Given the description of an element on the screen output the (x, y) to click on. 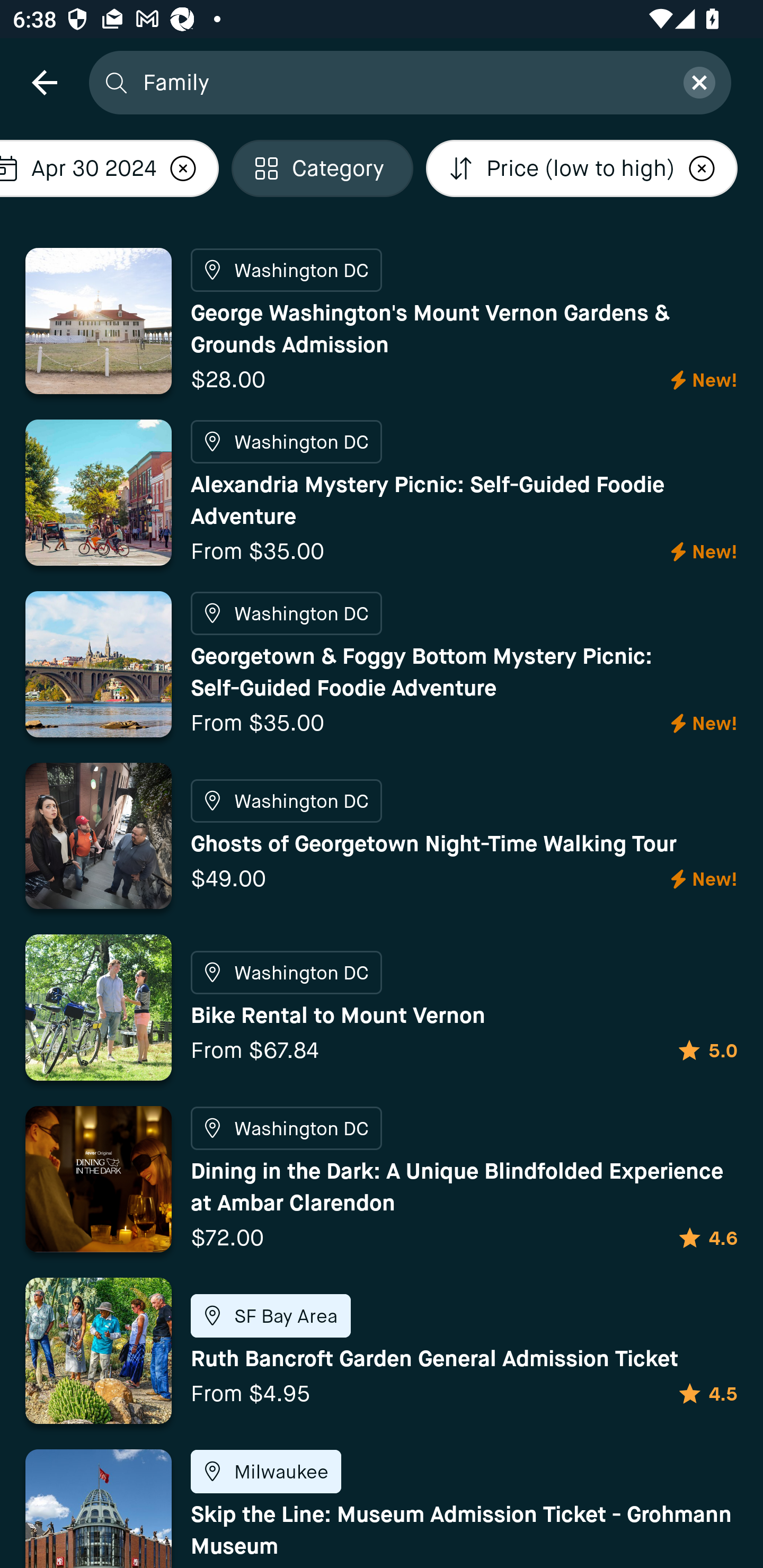
navigation icon (44, 81)
Family (402, 81)
Localized description (182, 168)
Localized description Category (322, 168)
Localized description (701, 168)
